Given the description of an element on the screen output the (x, y) to click on. 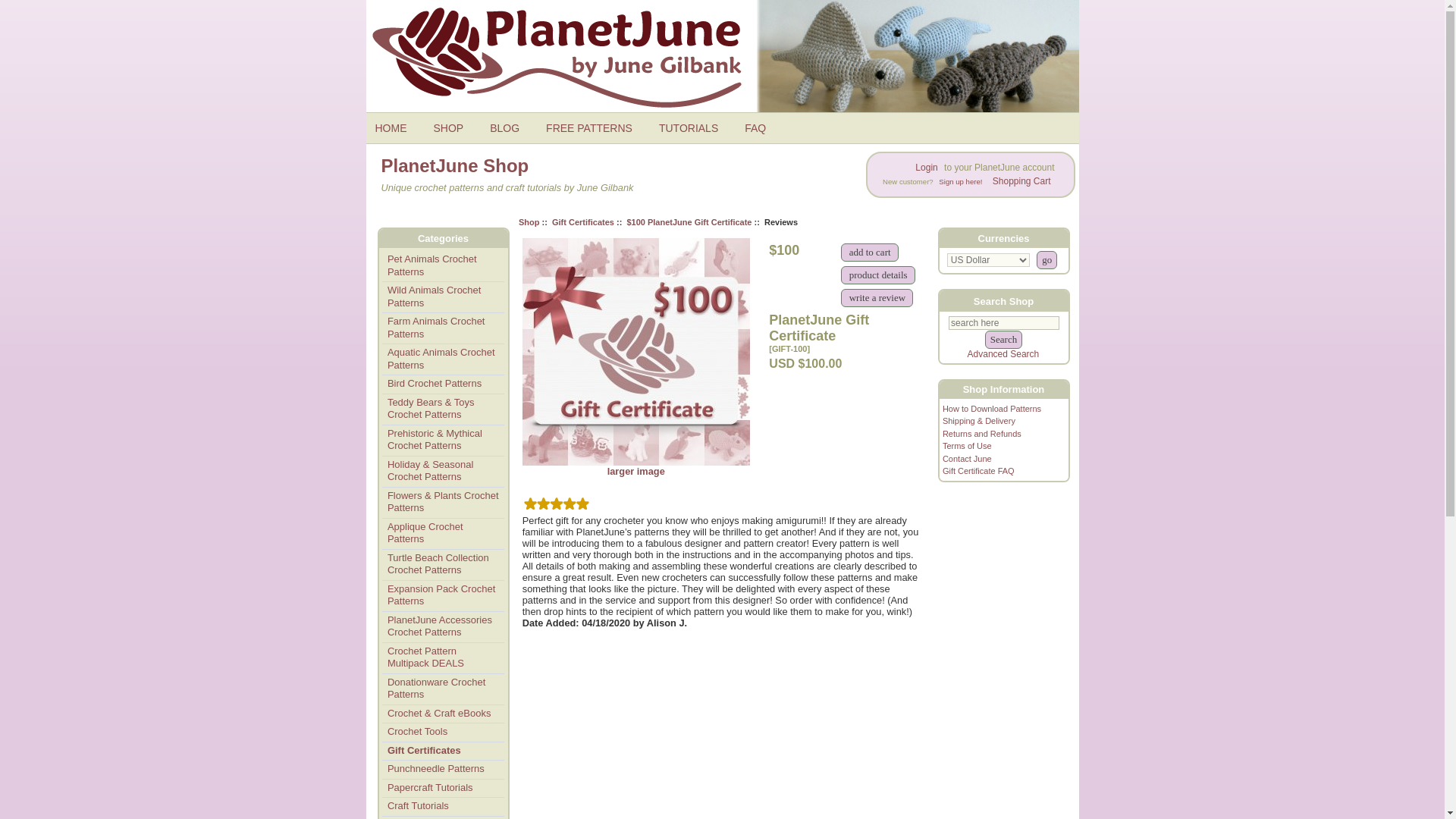
Donationware Crochet Patterns (442, 689)
SHOP (454, 127)
Applique Crochet Patterns (442, 533)
Papercraft Tutorials (442, 788)
Punchneedle Patterns (442, 769)
Turtle Beach Collection Crochet Patterns (442, 564)
go (1046, 259)
HOME (395, 127)
Shop (529, 221)
Gift Certificates (442, 751)
Shopping Cart (1021, 180)
Pet Animals Crochet Patterns (442, 265)
 write a review  (877, 297)
TUTORIALS (693, 127)
Search (1003, 339)
